Given the description of an element on the screen output the (x, y) to click on. 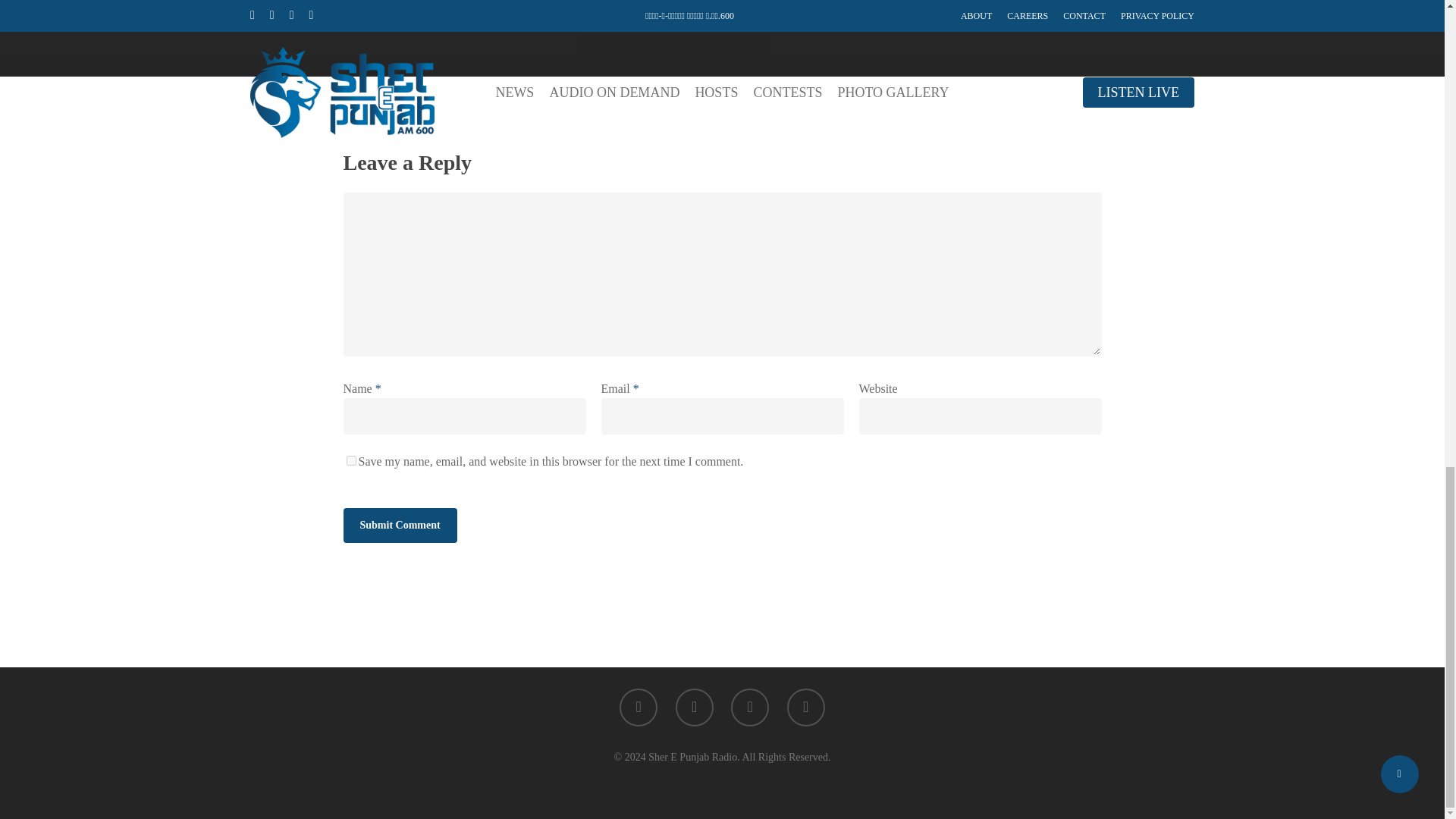
yes (350, 460)
Submit Comment (399, 524)
Submit Comment (399, 524)
